Given the description of an element on the screen output the (x, y) to click on. 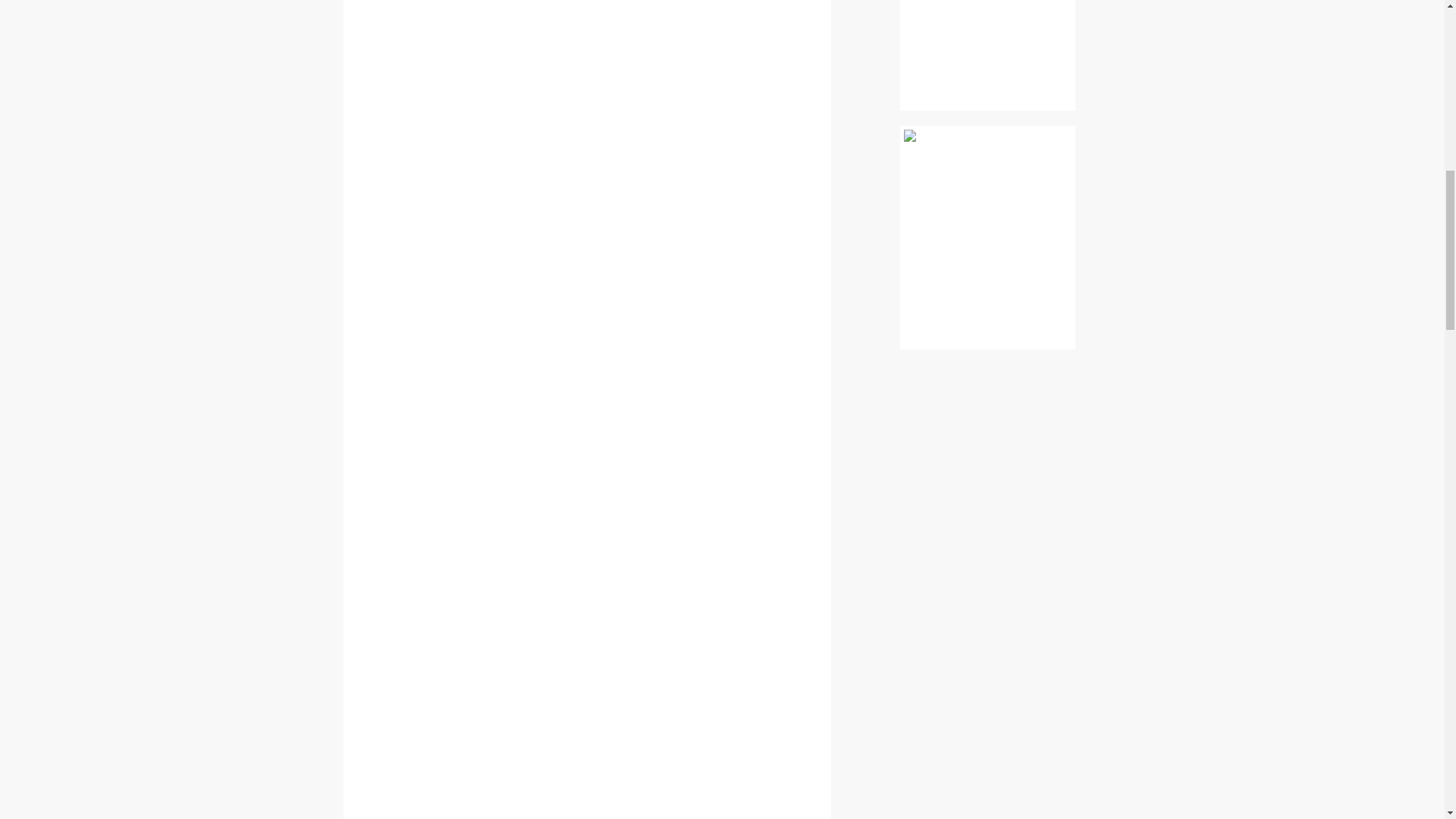
Top 10 Richest Cricketers for the Year 2012 (987, 76)
History of Soccer Through Amazing Facts Infographic (987, 315)
30 Shots (987, 315)
30 Shots (987, 76)
